Given the description of an element on the screen output the (x, y) to click on. 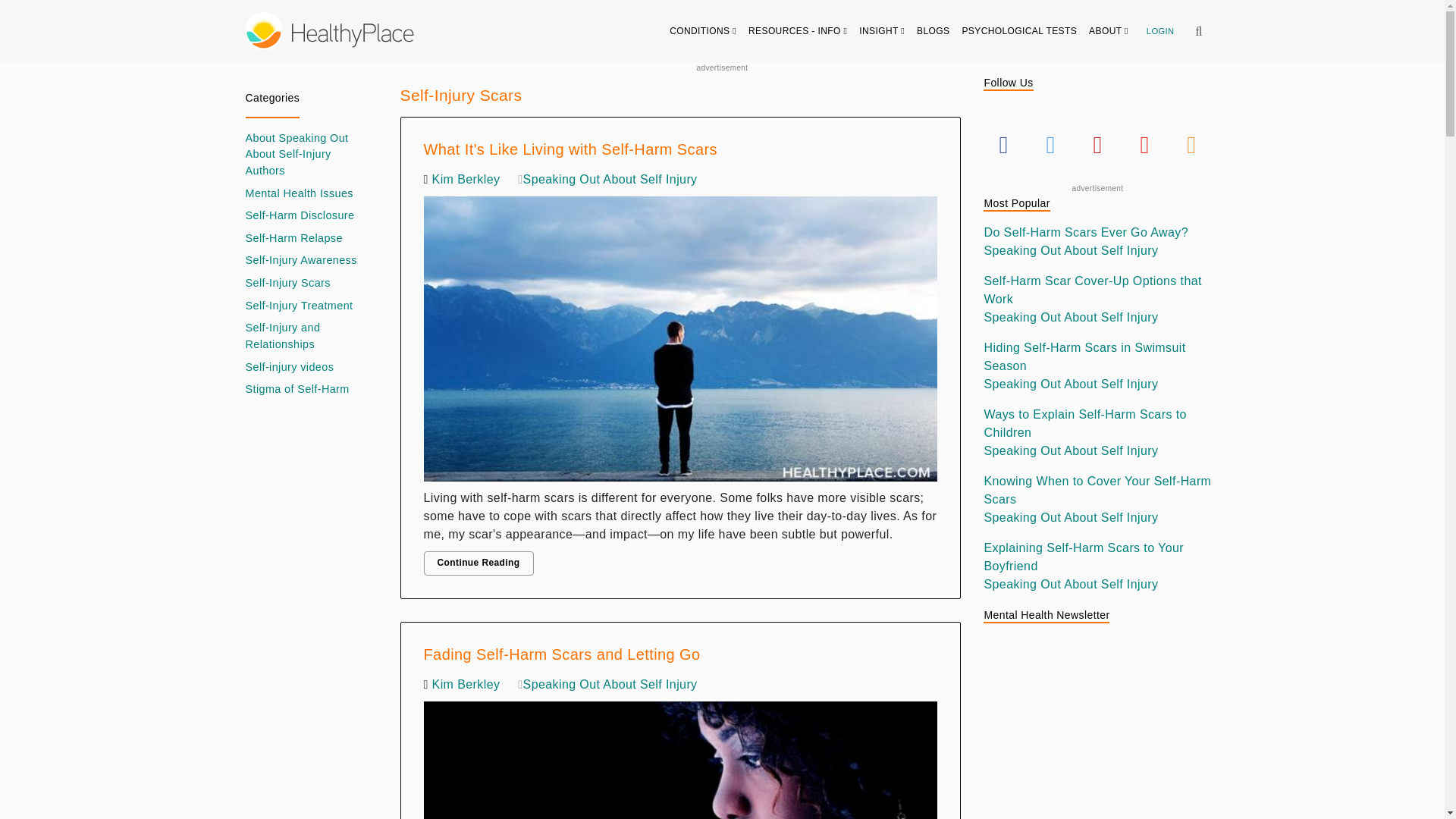
INSIGHT (882, 31)
RESOURCES - INFO (797, 31)
Fading Self-Harm Scars and Letting Go (680, 756)
CONDITIONS (702, 31)
